Given the description of an element on the screen output the (x, y) to click on. 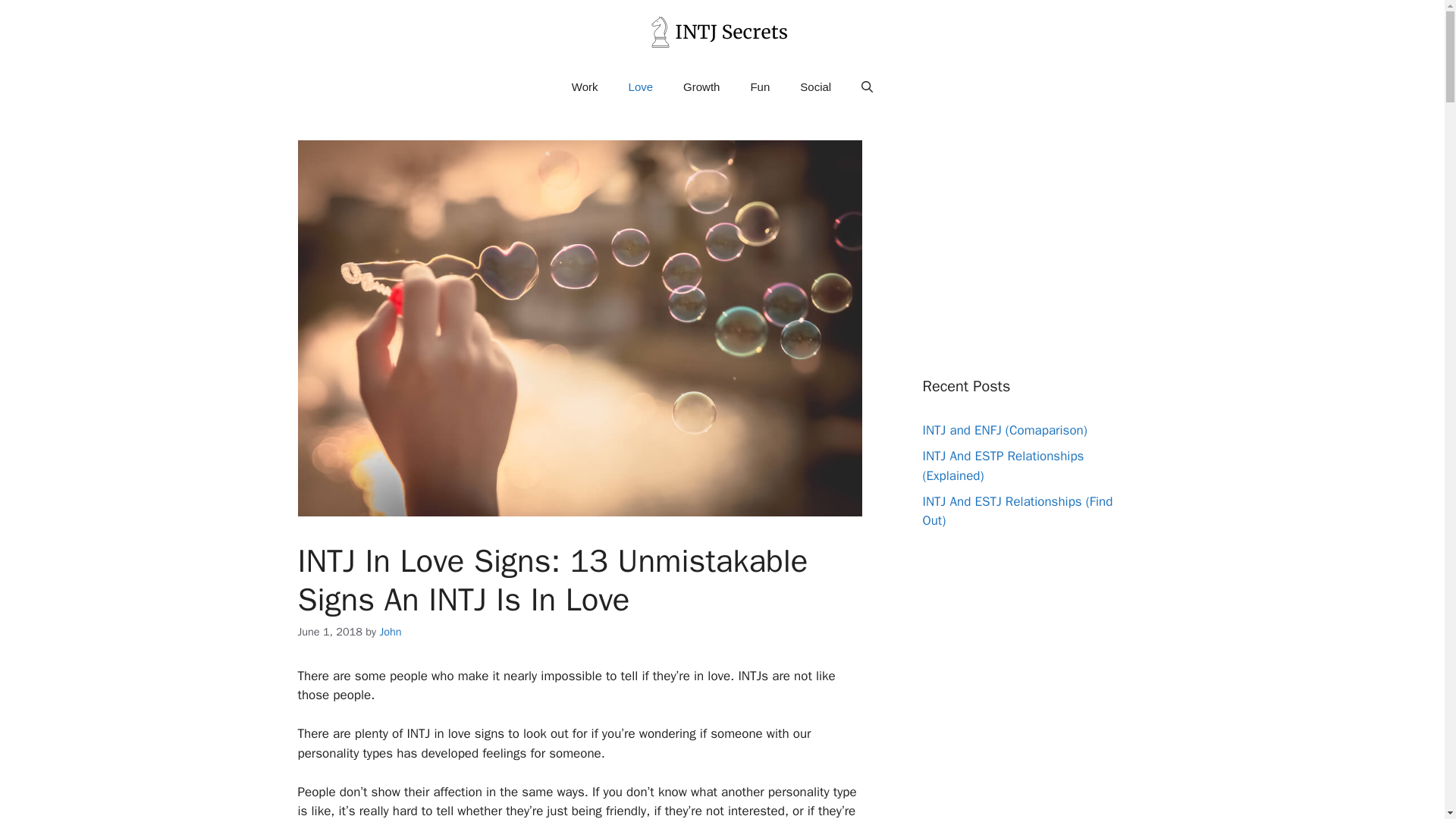
Work (584, 86)
Fun (759, 86)
Social (814, 86)
View all posts by John (389, 631)
John (389, 631)
Growth (701, 86)
Love (640, 86)
